Given the description of an element on the screen output the (x, y) to click on. 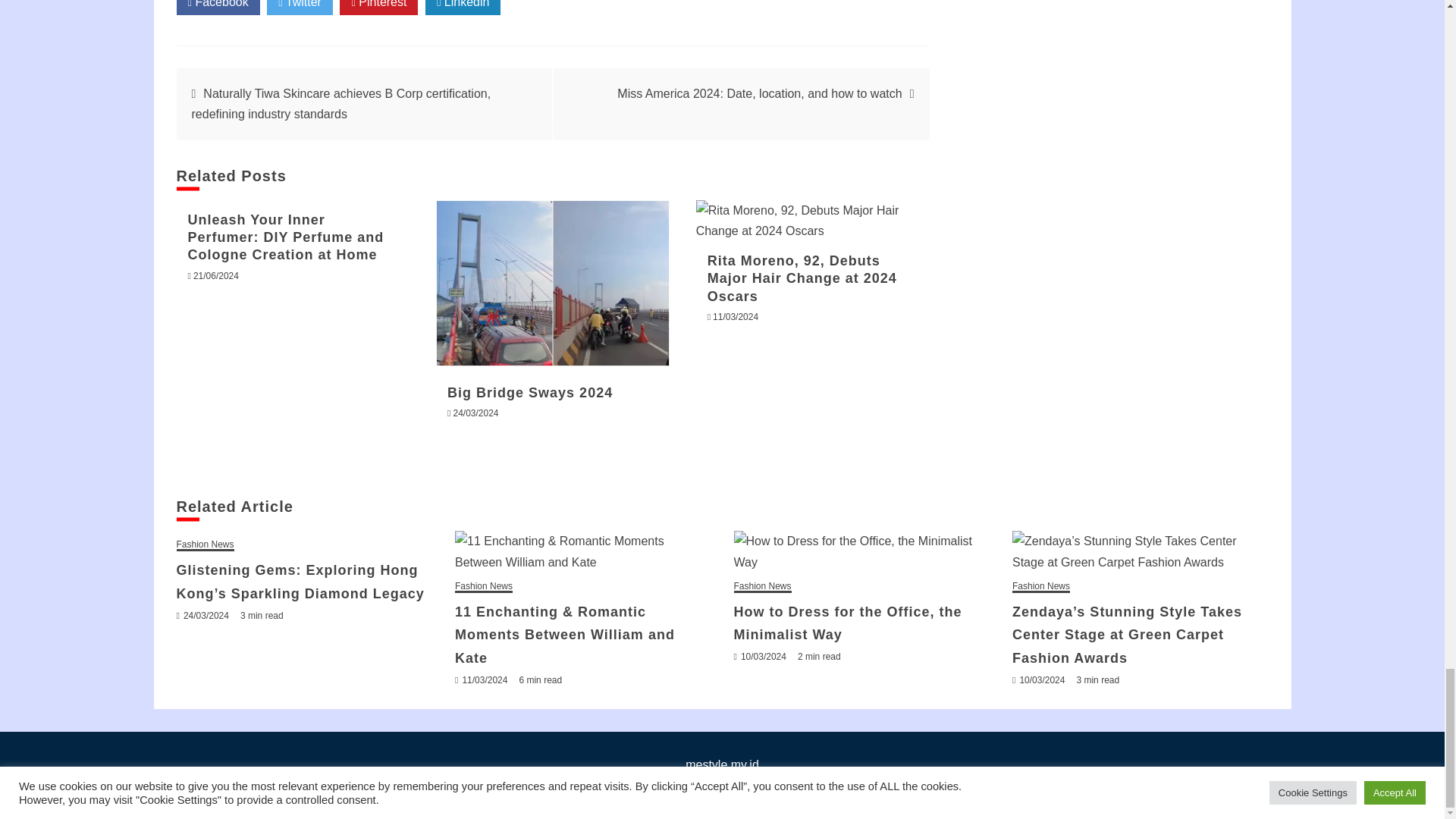
Twitter (299, 7)
Miss America 2024: Date, location, and how to watch (759, 92)
Big Bridge Sways 2024 (552, 282)
Rita Moreno, 92, Debuts Major Hair Change at 2024 Oscars (812, 219)
Linkedin (462, 7)
Pinterest (378, 7)
How to Dress for the Office, the Minimalist Way (861, 550)
Facebook (217, 7)
